Given the description of an element on the screen output the (x, y) to click on. 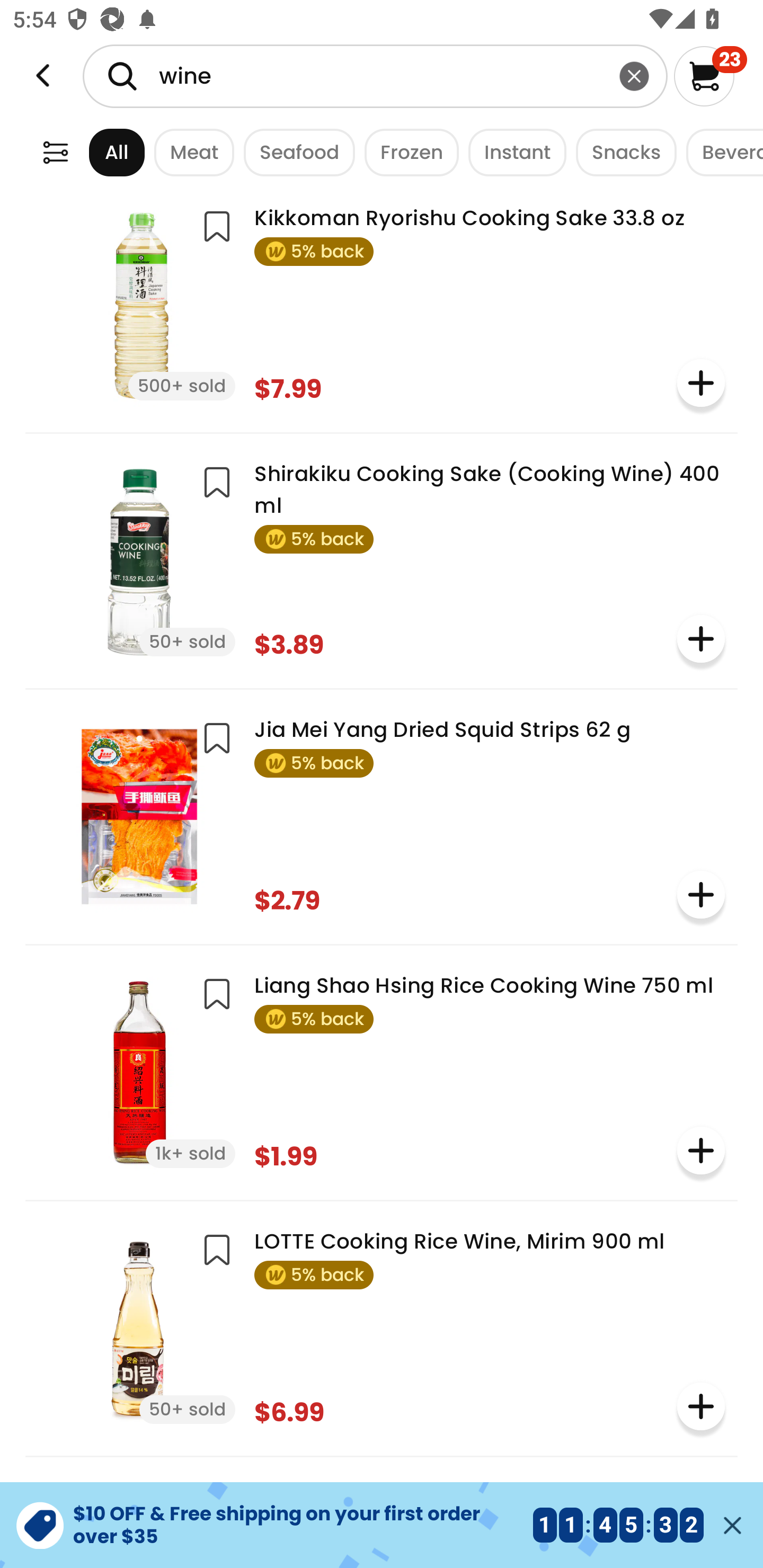
wine (374, 75)
23 (709, 75)
Weee! (42, 76)
Weee! (55, 151)
All (99, 151)
Meat (189, 151)
Seafood (294, 151)
Frozen (406, 151)
Instant (512, 151)
Snacks (621, 151)
Beverages (719, 151)
Jia Mei Yang Dried Squid Strips 62 g 5% back $2.79 (381, 815)
